Given the description of an element on the screen output the (x, y) to click on. 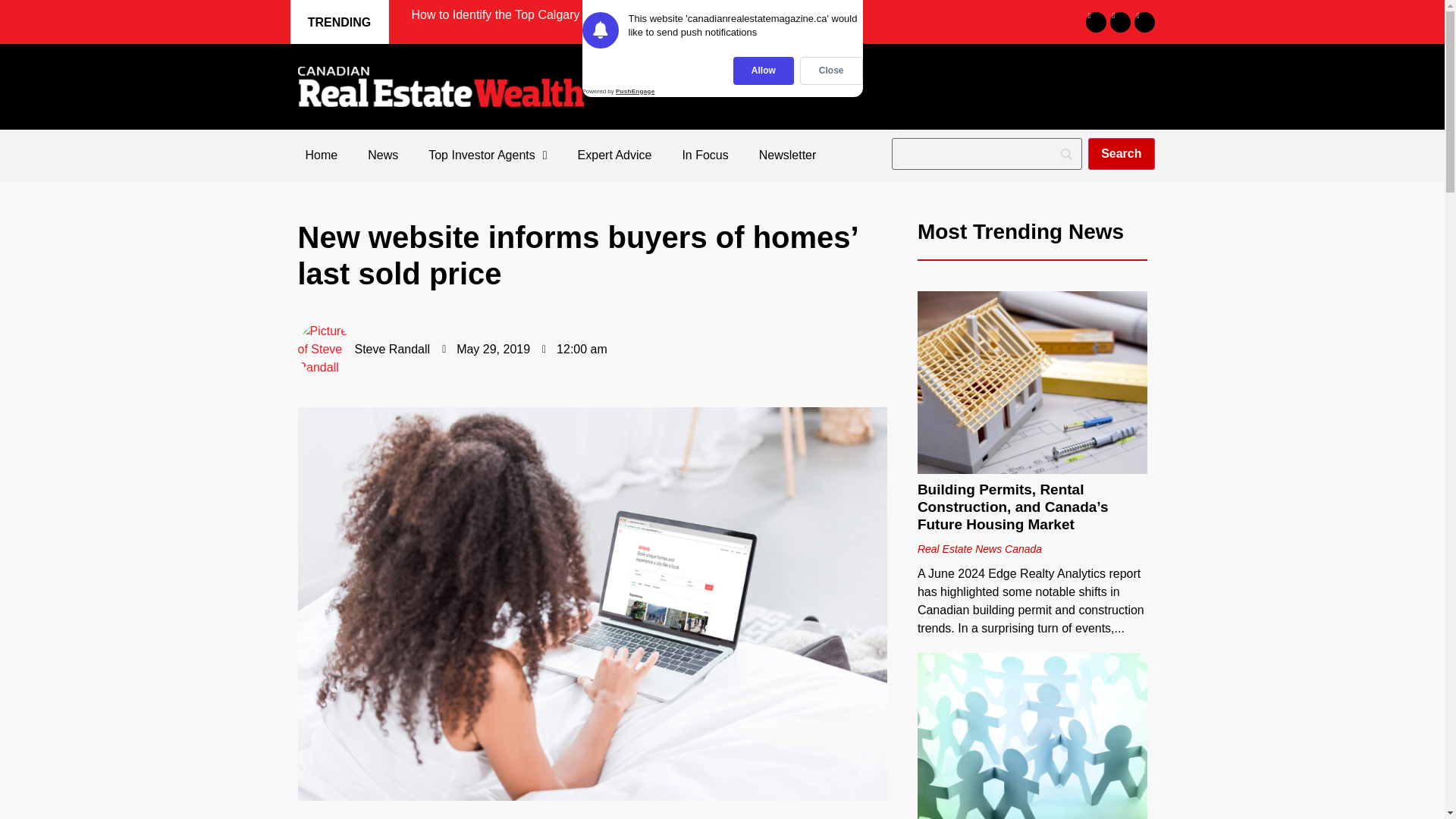
Home (320, 154)
Search (1120, 153)
In Focus (704, 154)
Newsletter (787, 154)
Top Investor Agents (487, 154)
Steve Randall (363, 349)
Search (1120, 153)
Search (1120, 153)
Expert Advice (614, 154)
News (382, 154)
